Given the description of an element on the screen output the (x, y) to click on. 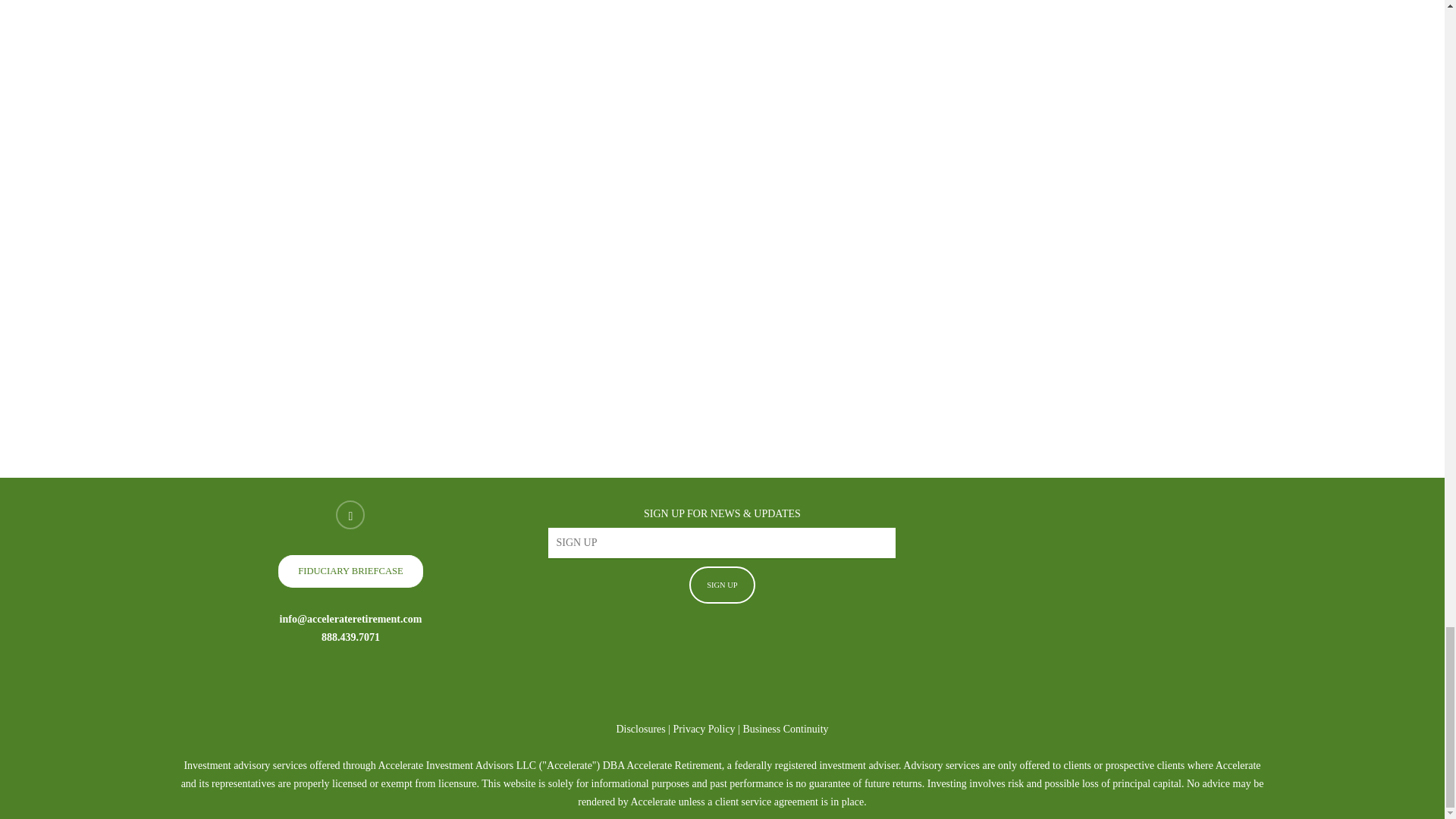
Business Continuity (785, 728)
FIDUCIARY BRIEFCASE (350, 571)
SIGN UP (721, 584)
Disclosures (640, 728)
Privacy Policy (703, 728)
SIGN UP (721, 584)
Accelerate Retirement Disclosure Statement (640, 728)
888.439.7071 (350, 636)
